Given the description of an element on the screen output the (x, y) to click on. 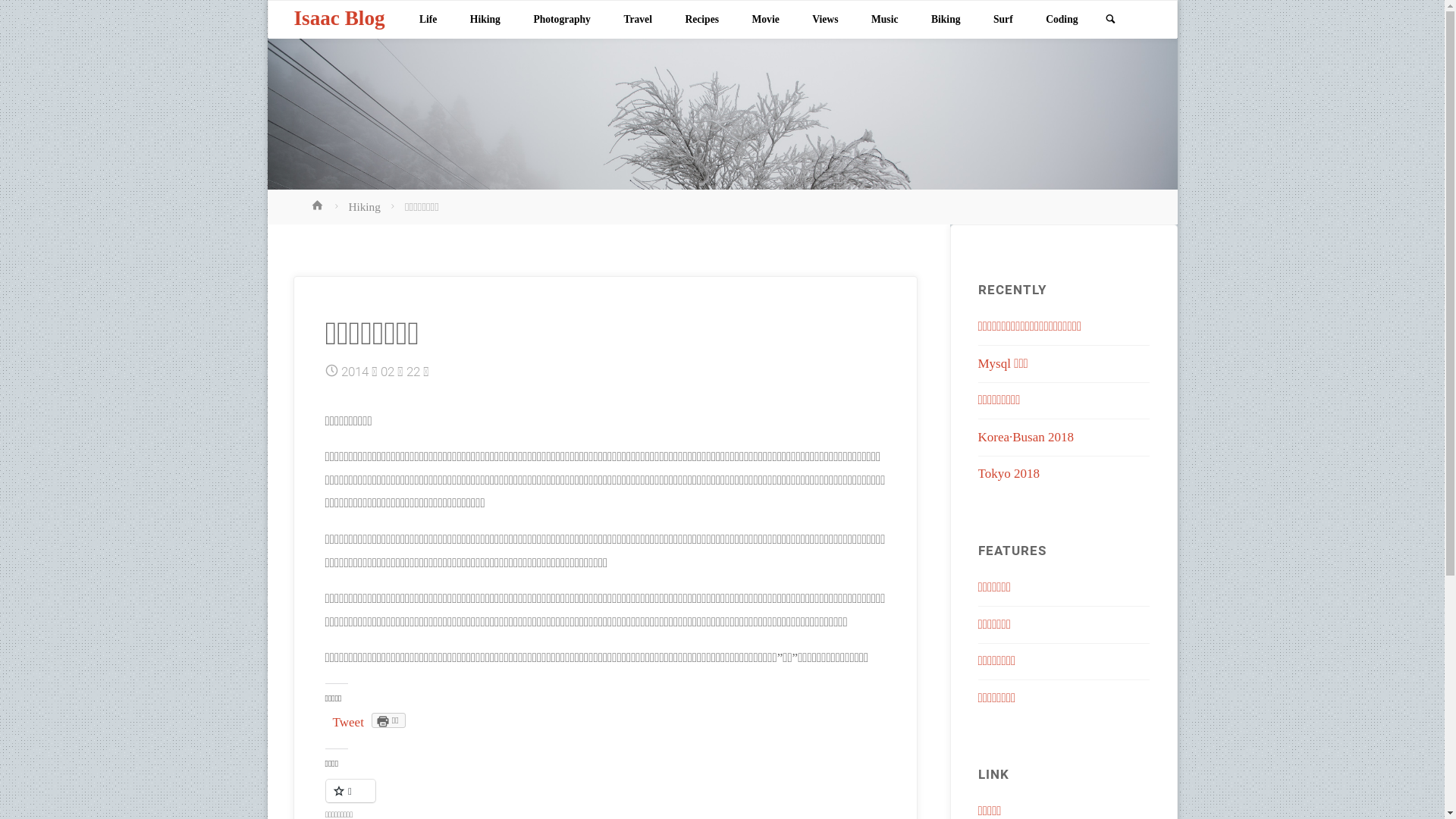
Coding Element type: text (1061, 19)
Isaac Blog Element type: text (339, 17)
Hiking Element type: text (364, 206)
Date Element type: hover (331, 371)
Tweet Element type: text (348, 722)
Life Element type: text (427, 19)
Home Element type: text (318, 206)
Search Element type: text (1110, 20)
Biking Element type: text (945, 19)
Movie Element type: text (765, 19)
Travel Element type: text (637, 19)
Photography Element type: text (562, 19)
Hiking Element type: text (485, 19)
Skip to content Element type: text (421, 67)
Tokyo 2018 Element type: text (1008, 473)
Recipes Element type: text (701, 19)
Views Element type: text (824, 19)
Music Element type: text (884, 19)
Surf Element type: text (1002, 19)
